Given the description of an element on the screen output the (x, y) to click on. 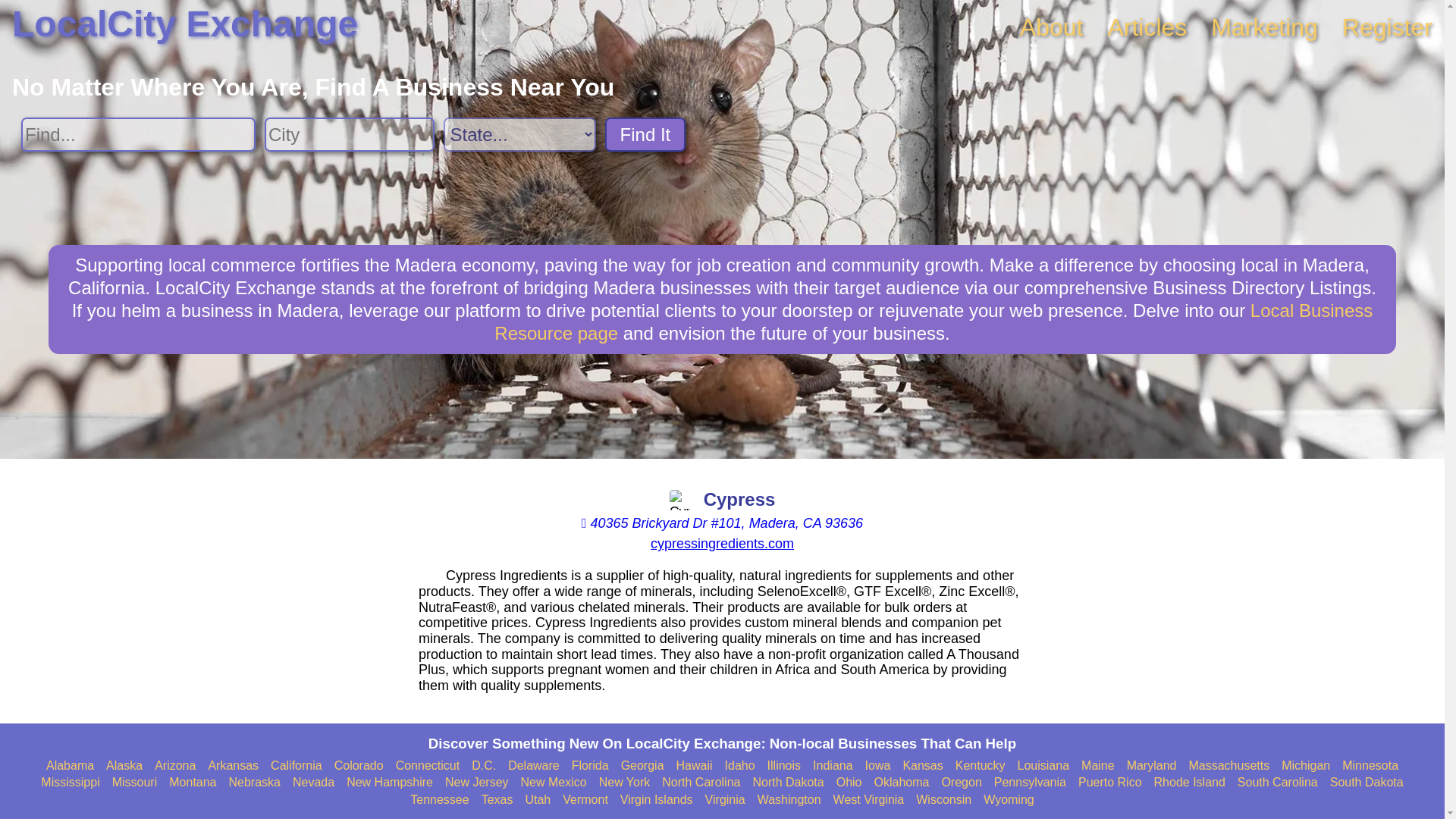
Find Businesses in Arizona (174, 766)
Find Businesses in Idaho (740, 766)
Find Businesses in Hawaii (695, 766)
Mississippi (69, 782)
Minnesota (1369, 766)
Articles (1146, 27)
Arizona (174, 766)
Find Businesses in Alabama (70, 766)
Visit cypressingredients.com (721, 543)
Florida (590, 766)
